Given the description of an element on the screen output the (x, y) to click on. 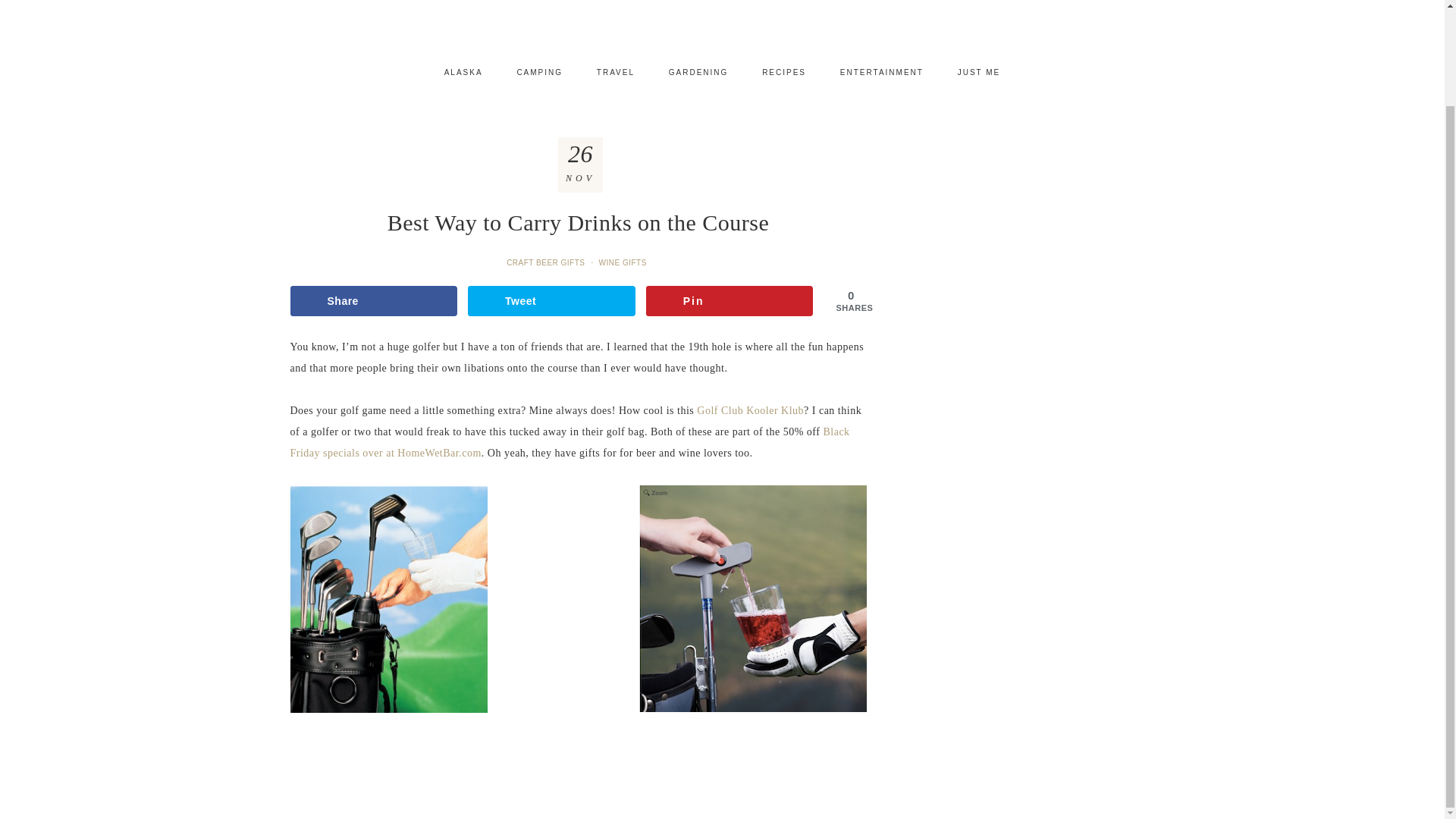
RECIPES (783, 72)
GARDENING (698, 72)
Save to Pinterest (729, 300)
Share on Twitter (550, 300)
ENTERTAINMENT (882, 72)
KRISTI TRIMMER (722, 17)
TRAVEL (614, 72)
CAMPING (539, 72)
ALASKA (463, 72)
Share on Facebook (373, 300)
